Given the description of an element on the screen output the (x, y) to click on. 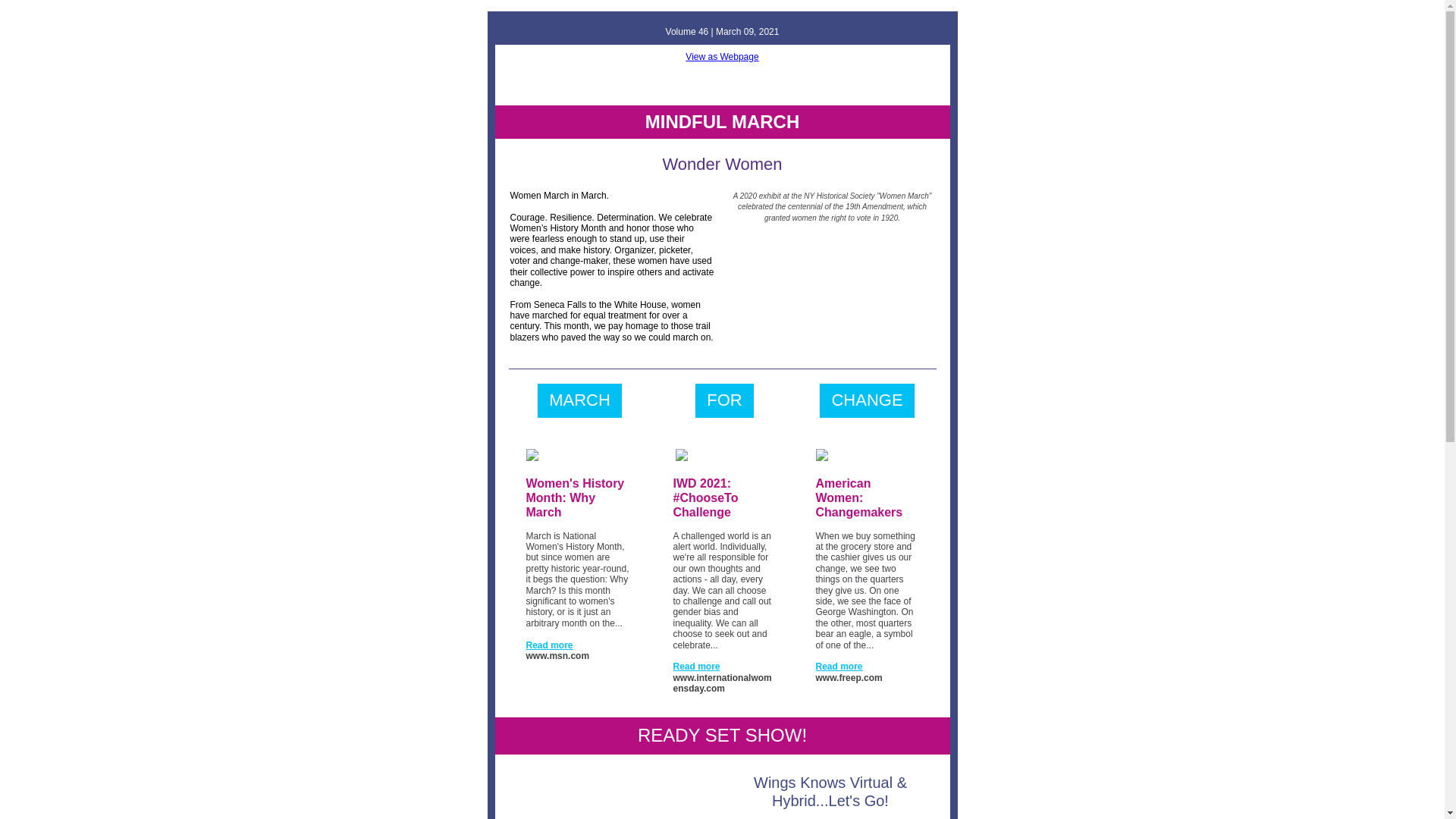
CHANGE (866, 399)
Read more (839, 665)
View as Webpage (721, 56)
FOR (723, 399)
www.freep.com (848, 677)
Read more (549, 644)
www.msn.com (557, 655)
MARCH (579, 399)
www.internationalwomensday.com (721, 682)
Read more (696, 665)
